Given the description of an element on the screen output the (x, y) to click on. 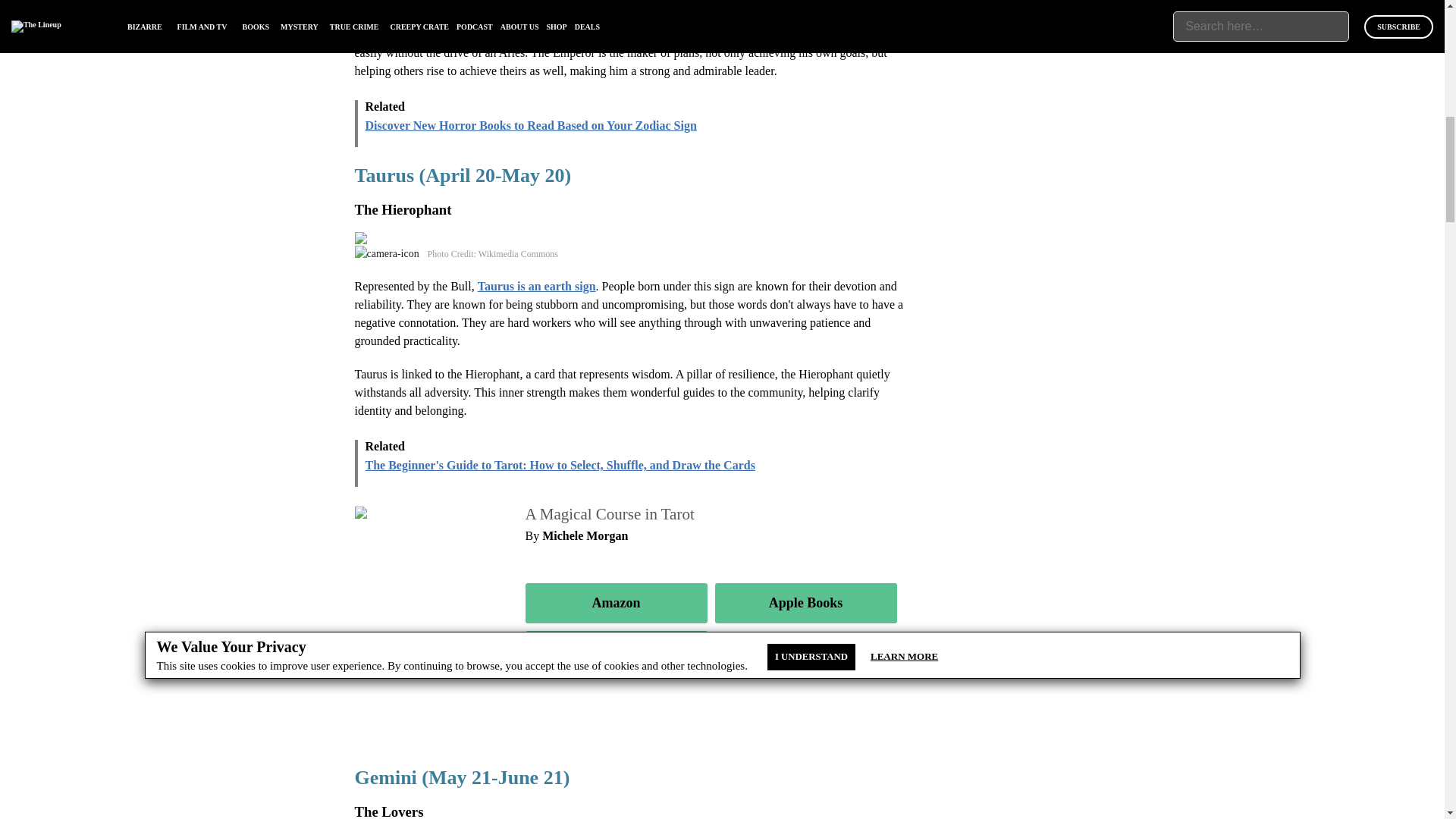
Amazon (615, 603)
Taurus is an earth sign (536, 286)
A-Magical-Course-in-Tarot (425, 513)
Discover New Horror Books to Read Based on Your Zodiac Sign (531, 138)
